Given the description of an element on the screen output the (x, y) to click on. 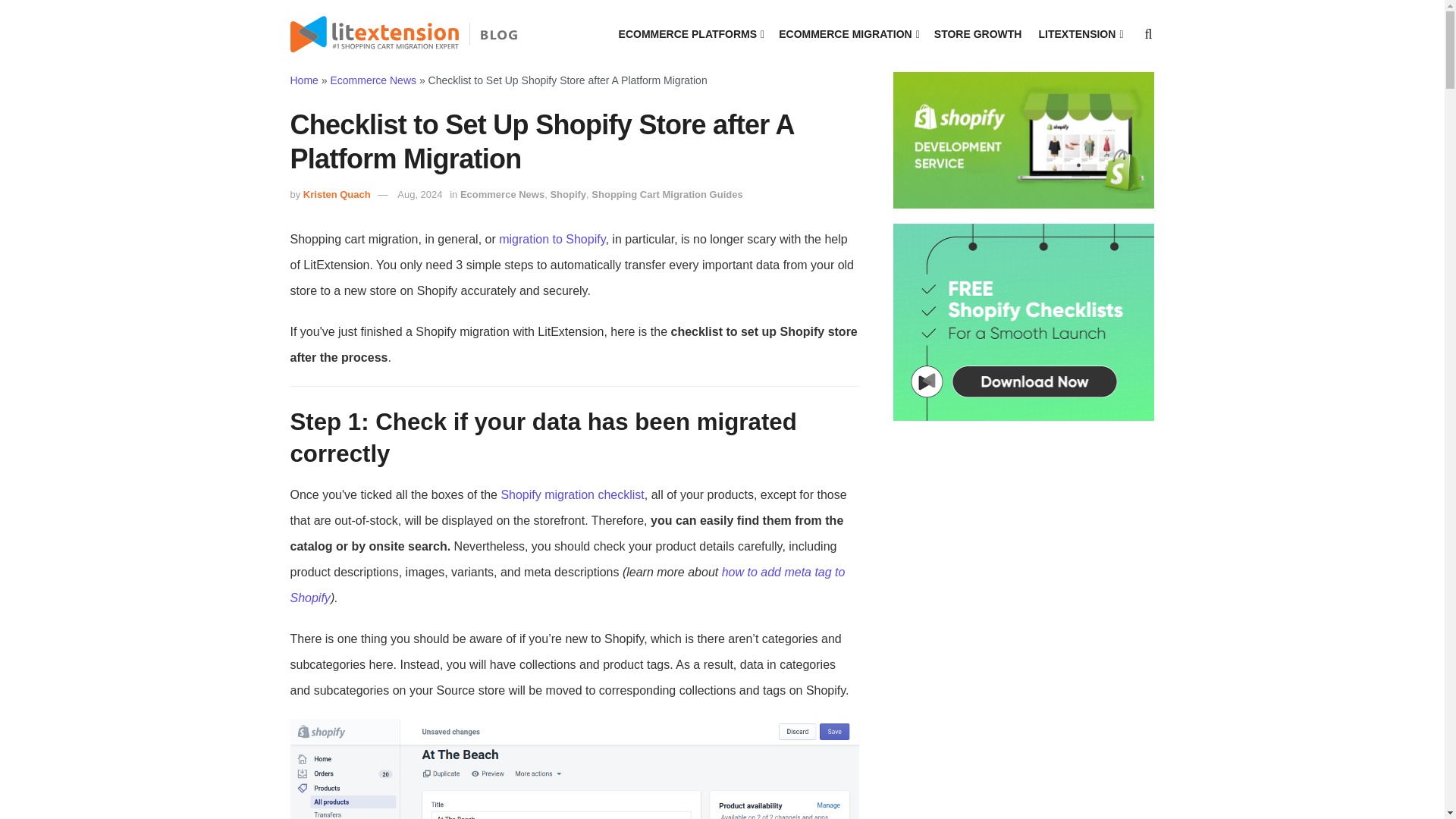
ECOMMERCE PLATFORMS (690, 34)
STORE GROWTH (978, 34)
ECOMMERCE MIGRATION (847, 34)
LITEXTENSION (1079, 34)
